Given the description of an element on the screen output the (x, y) to click on. 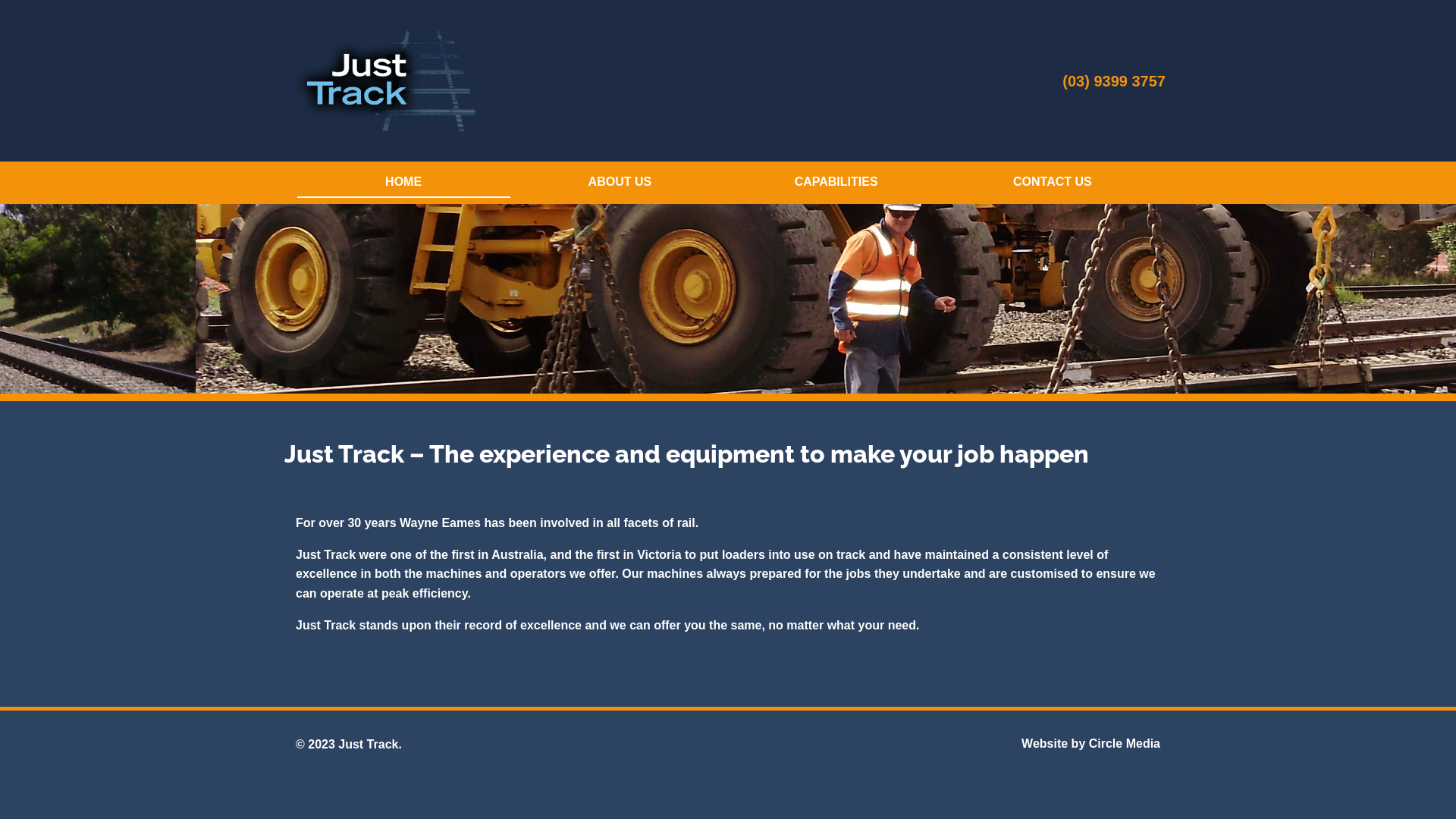
HOME Element type: text (403, 182)
(03) 9399 3757 Element type: text (1113, 80)
CAPABILITIES Element type: text (835, 182)
ABOUT US Element type: text (619, 182)
Circle Media Element type: text (1124, 743)
CONTACT US Element type: text (1051, 182)
